Given the description of an element on the screen output the (x, y) to click on. 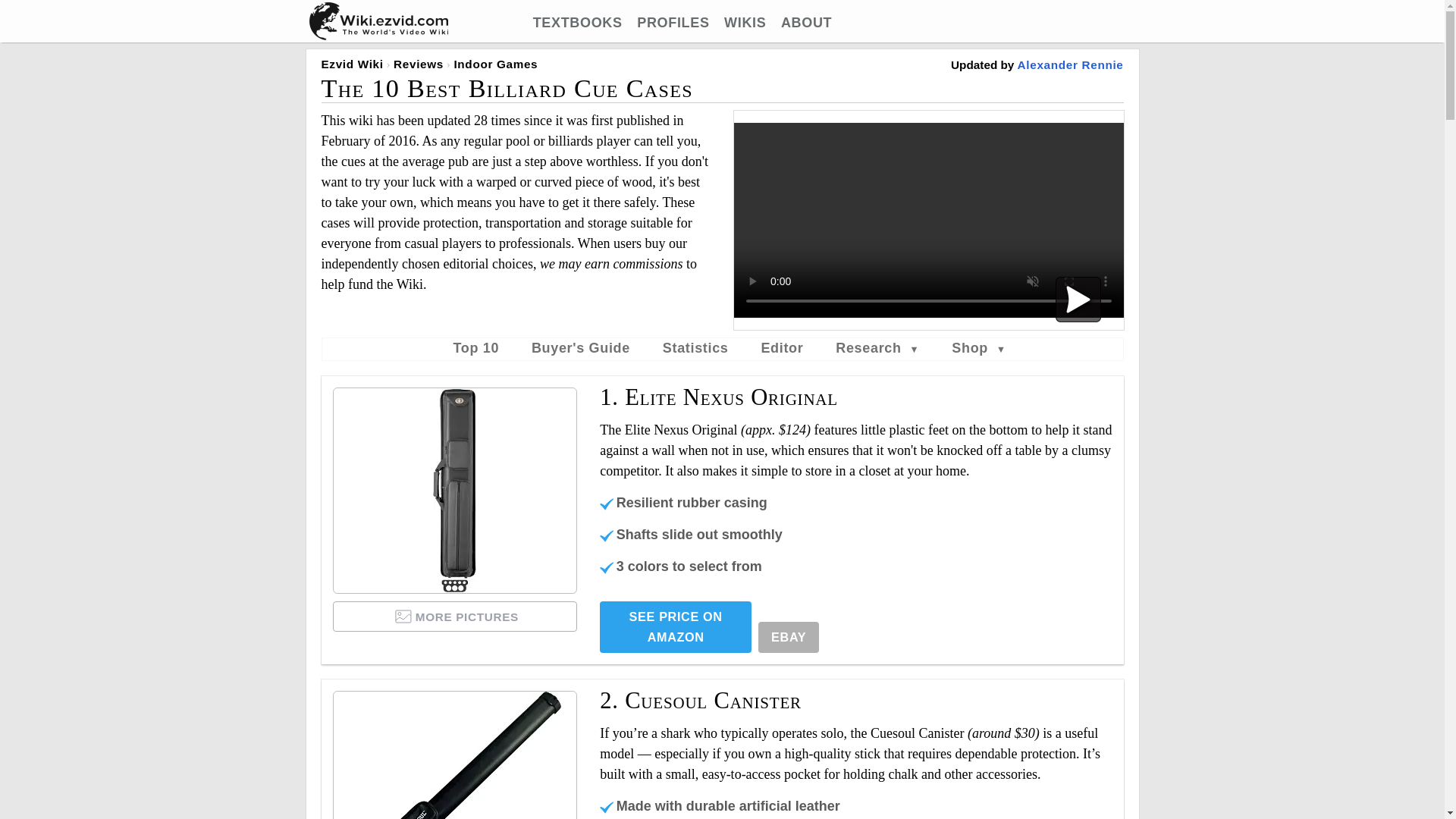
Buyer's Guide (580, 347)
Alexander Rennie (1070, 64)
Ezvid Wiki (352, 63)
Top 10 (475, 347)
WIKIS (744, 22)
Editor (781, 347)
ABOUT (805, 22)
PROFILES (673, 22)
SEE PRICE ON AMAZON (675, 626)
Indoor Games (494, 63)
Statistics (695, 347)
MORE PICTURES (454, 615)
Reviews (418, 63)
EBAY (788, 636)
TEXTBOOKS (577, 22)
